Given the description of an element on the screen output the (x, y) to click on. 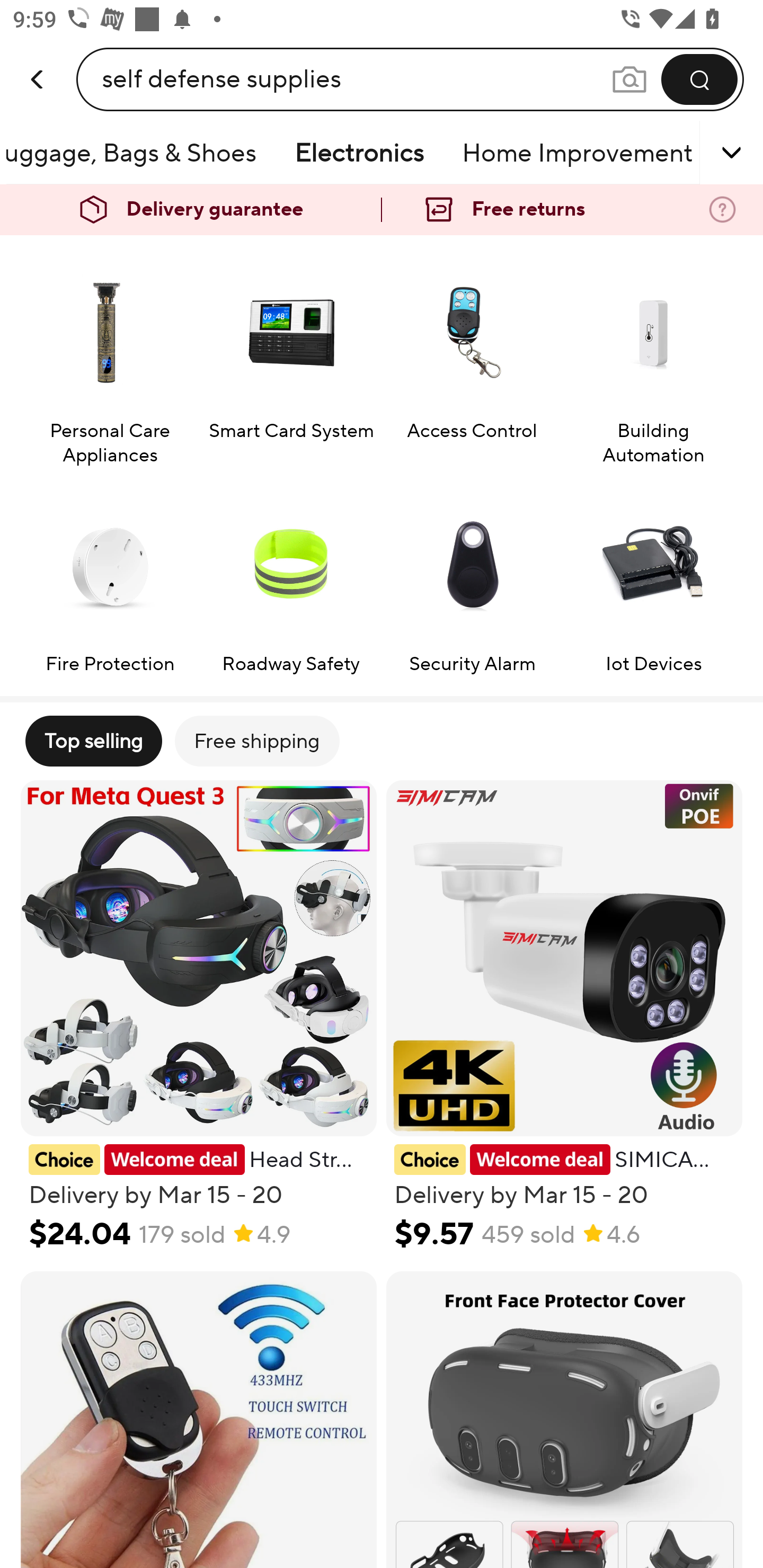
back  (38, 59)
self defense supplies Search query (355, 79)
Luggage, Bags & Shoes (140, 152)
Home Improvement & Lighting (577, 152)
 (705, 152)
Delivery guarantee Free returns (381, 210)
Personal Care Appliances (109, 357)
Smart Card System (290, 357)
Access Control (471, 357)
Building Automation (653, 357)
Fire Protection (109, 579)
Roadway Safety (290, 579)
Security Alarm (471, 579)
Iot Devices (653, 579)
Top selling (93, 740)
Free shipping (256, 740)
